Given the description of an element on the screen output the (x, y) to click on. 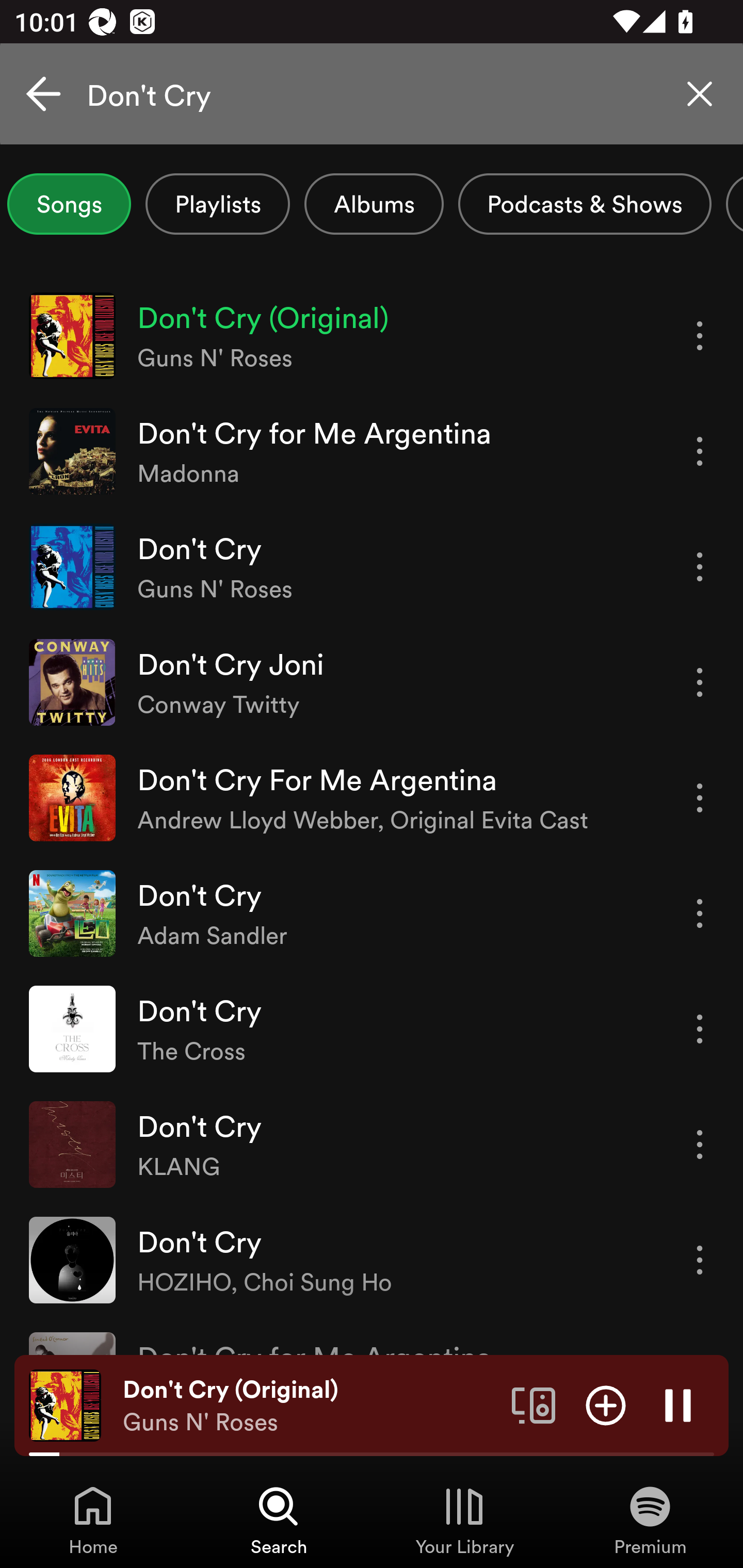
Don't Cry (371, 93)
Cancel (43, 93)
Clear search query (699, 93)
Songs (68, 203)
Playlists (217, 203)
Albums (373, 203)
Podcasts & Shows (584, 203)
More options for song Don't Cry (Original) (699, 336)
More options for song Don't Cry for Me Argentina (699, 450)
More options for song Don't Cry (699, 566)
More options for song Don't Cry Joni (699, 682)
More options for song Don't Cry For Me Argentina (699, 798)
More options for song Don't Cry (699, 913)
More options for song Don't Cry (699, 1029)
Don't Cry KLANG More options for song Don't Cry (371, 1144)
More options for song Don't Cry (699, 1144)
More options for song Don't Cry (699, 1259)
Don't Cry (Original) Guns N' Roses (309, 1405)
The cover art of the currently playing track (64, 1404)
Connect to a device. Opens the devices menu (533, 1404)
Add item (605, 1404)
Pause (677, 1404)
Home, Tab 1 of 4 Home Home (92, 1519)
Search, Tab 2 of 4 Search Search (278, 1519)
Your Library, Tab 3 of 4 Your Library Your Library (464, 1519)
Premium, Tab 4 of 4 Premium Premium (650, 1519)
